Given the description of an element on the screen output the (x, y) to click on. 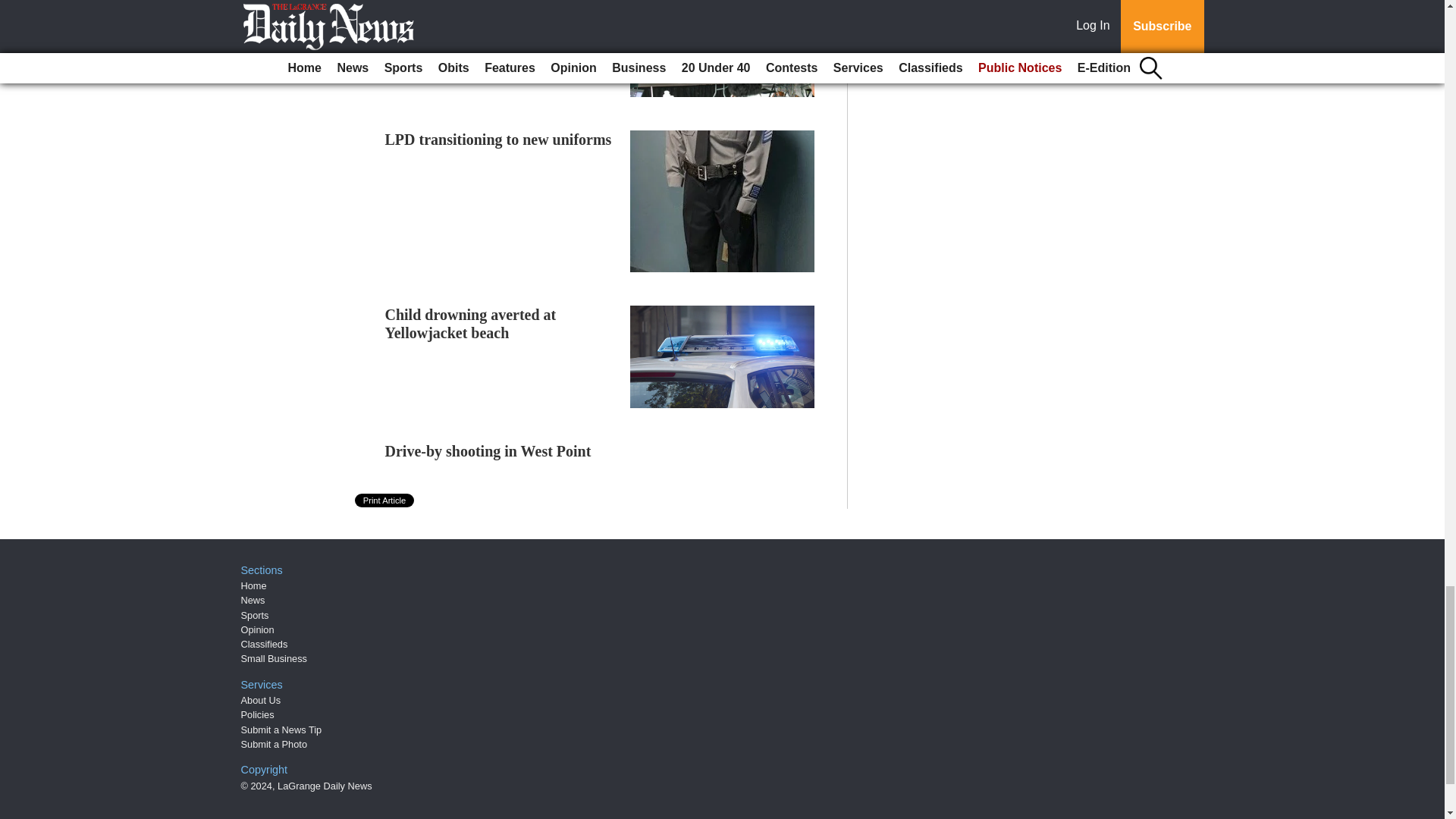
Opinion (258, 629)
Print Article (384, 499)
Policies (258, 714)
Sports (255, 614)
News (252, 600)
LPD transitioning to new uniforms (498, 139)
Child drowning averted at Yellowjacket beach (470, 323)
Child drowning averted at Yellowjacket beach (470, 323)
About Us (261, 699)
Classifieds (264, 644)
Home (253, 585)
CAFI hosts autism seminar (473, 6)
CAFI hosts autism seminar (473, 6)
Drive-by shooting in West Point (488, 451)
Small Business (274, 658)
